Given the description of an element on the screen output the (x, y) to click on. 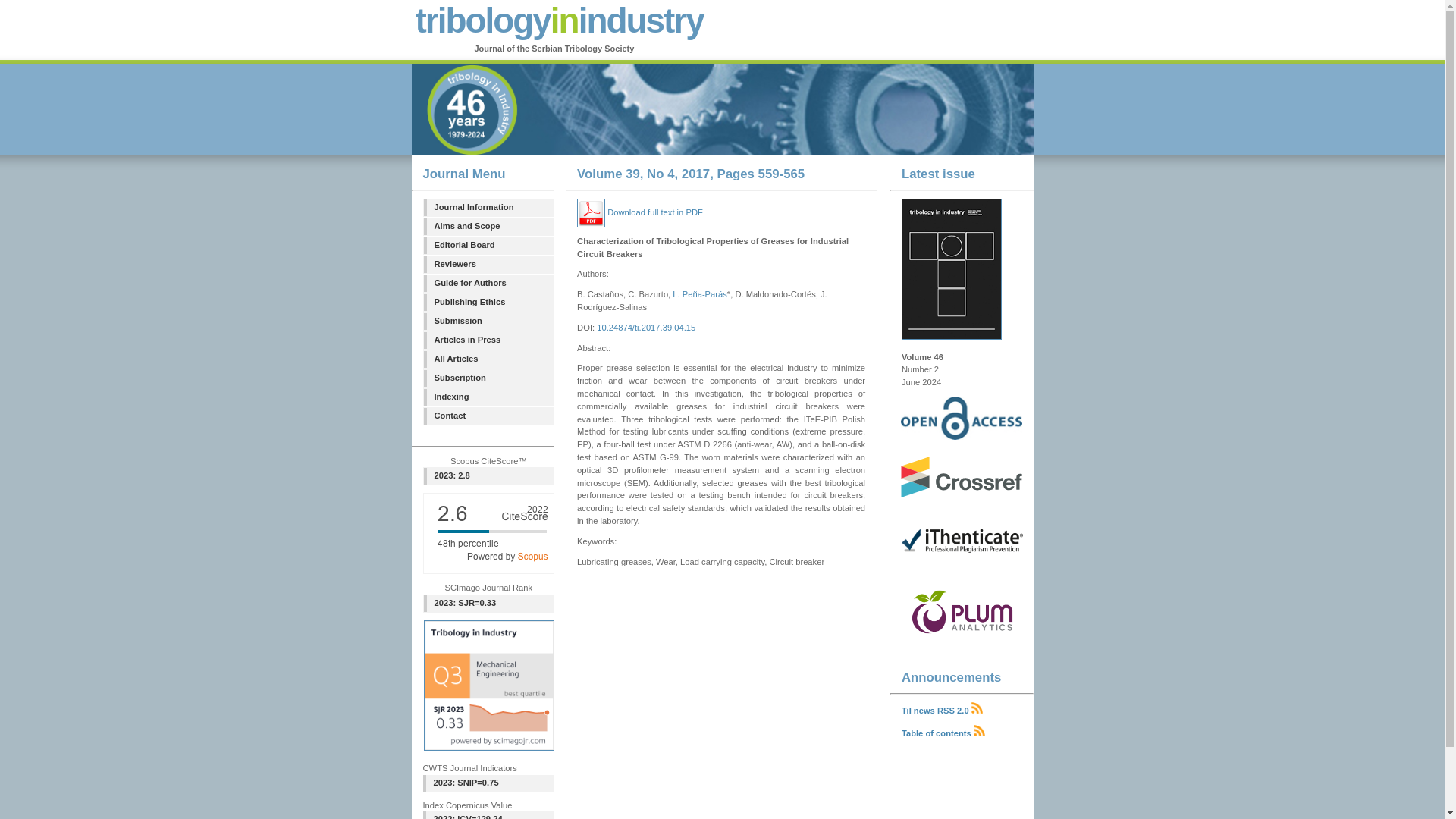
All Articles (488, 359)
Subscription (488, 378)
Download full text in PDF (639, 212)
Indexing (488, 397)
Guide for Authors (488, 283)
Publishing Ethics (488, 302)
Journal Information (488, 207)
Reviewers (488, 264)
Aims and Scope (488, 226)
2023: 2.8 (488, 475)
